Given the description of an element on the screen output the (x, y) to click on. 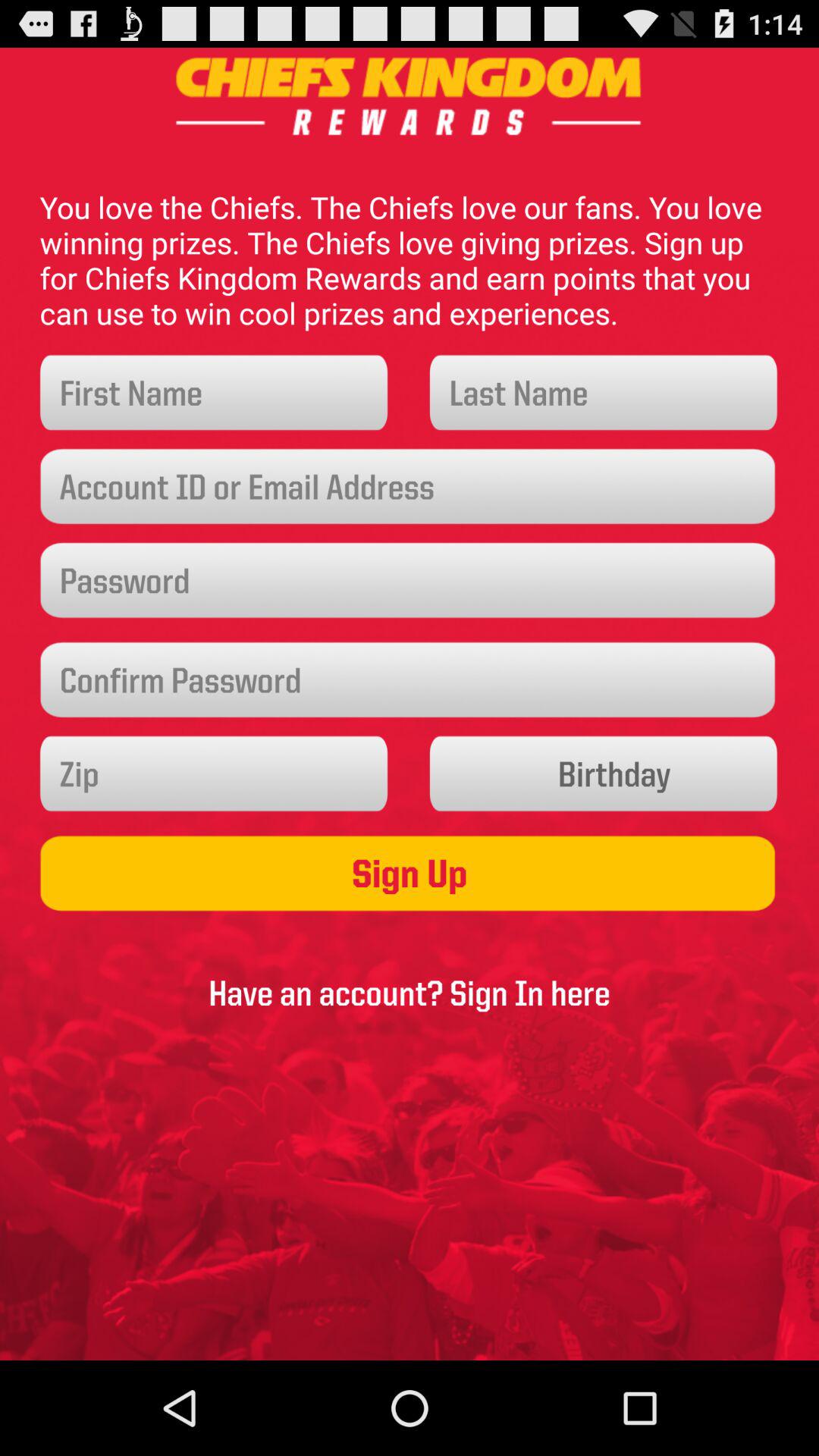
open keyboard (214, 392)
